Given the description of an element on the screen output the (x, y) to click on. 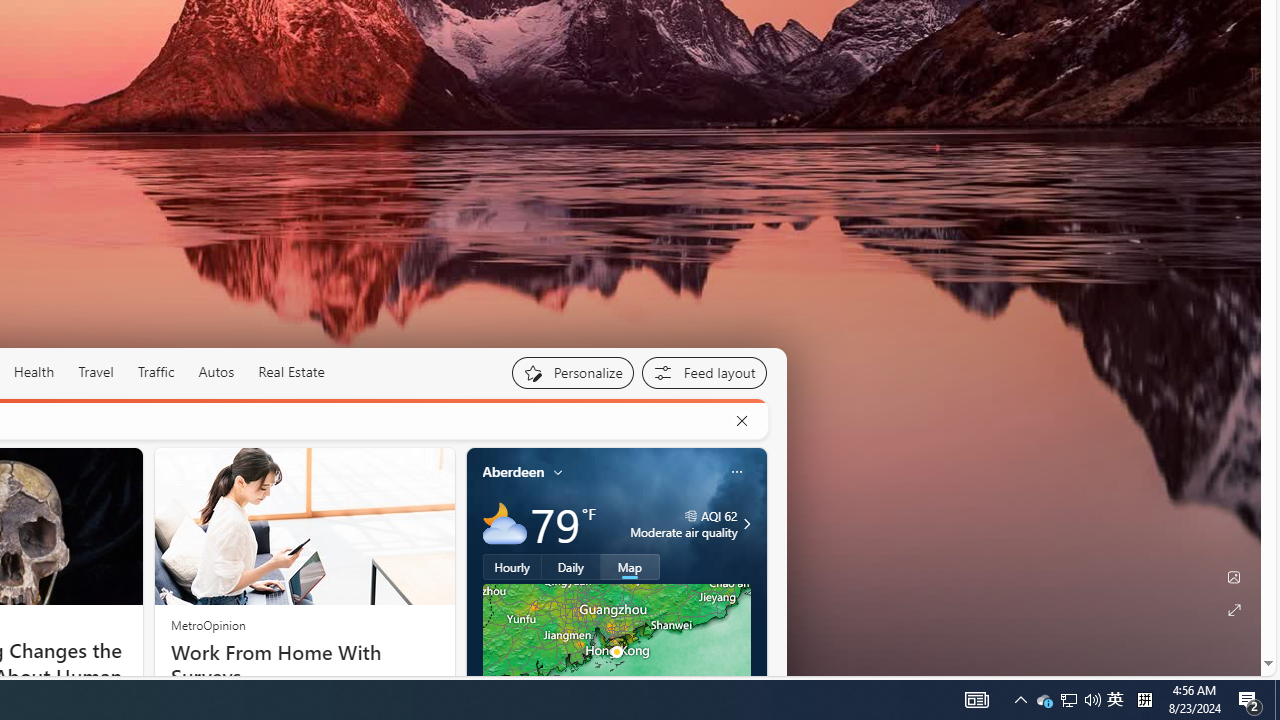
Mostly cloudy (504, 523)
Edit Background (1233, 577)
Cancel (741, 421)
Mostly cloudy (504, 523)
Larger map  (616, 651)
Map (630, 566)
Moderate air quality (744, 524)
aqi-icon AQI 62 Moderate air quality (683, 524)
My location (558, 471)
